Given the description of an element on the screen output the (x, y) to click on. 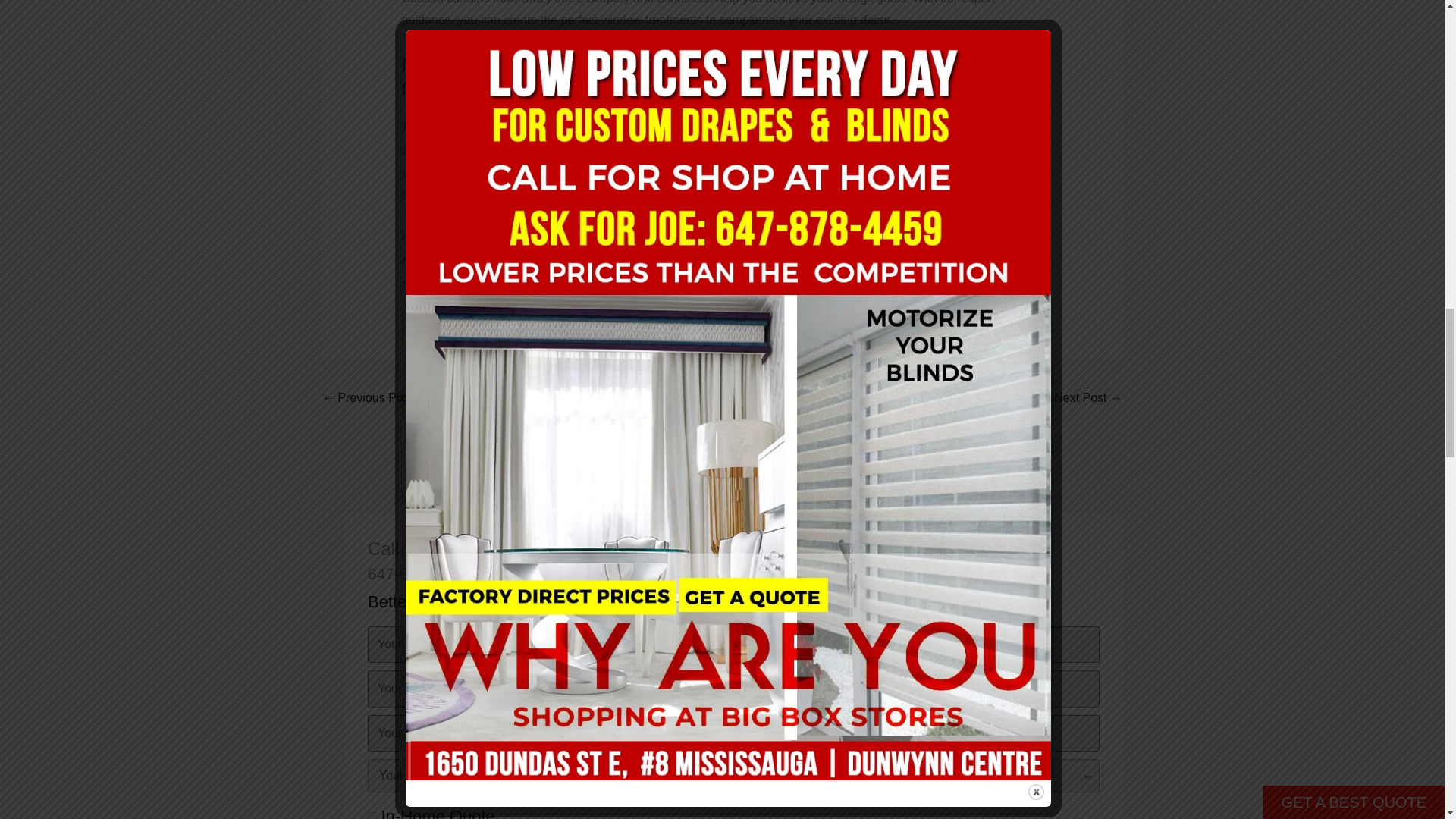
Custom Blinds Whitby (1088, 398)
custom curtains (832, 151)
Custom Blinds and  Drapes Ajax (366, 398)
In-Home Quote (372, 815)
